Given the description of an element on the screen output the (x, y) to click on. 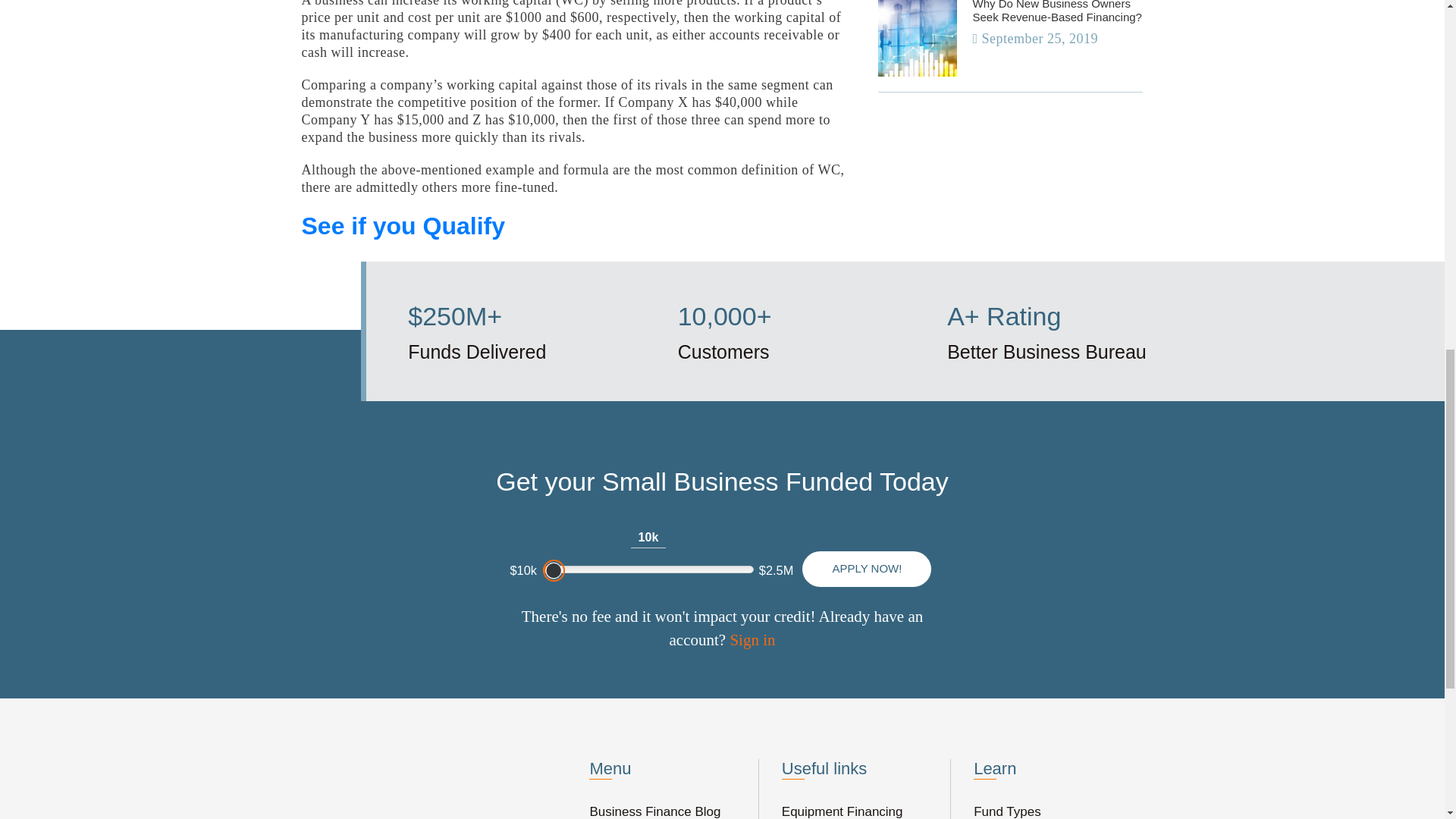
See if you Qualify (403, 225)
Why Do New Business Owners Seek Revenue-Based Financing? (1056, 11)
